Given the description of an element on the screen output the (x, y) to click on. 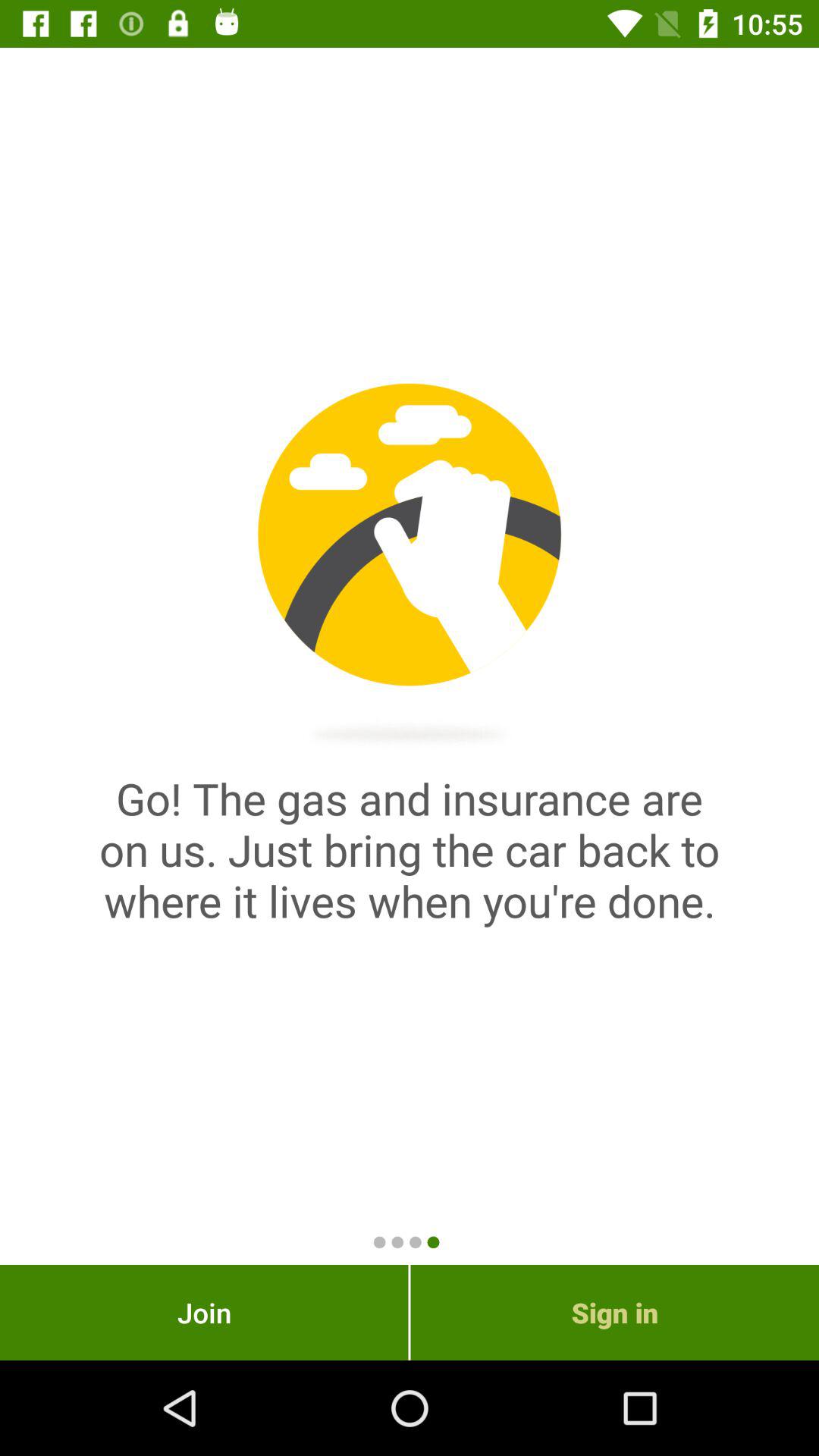
choose the join at the bottom left corner (204, 1312)
